Given the description of an element on the screen output the (x, y) to click on. 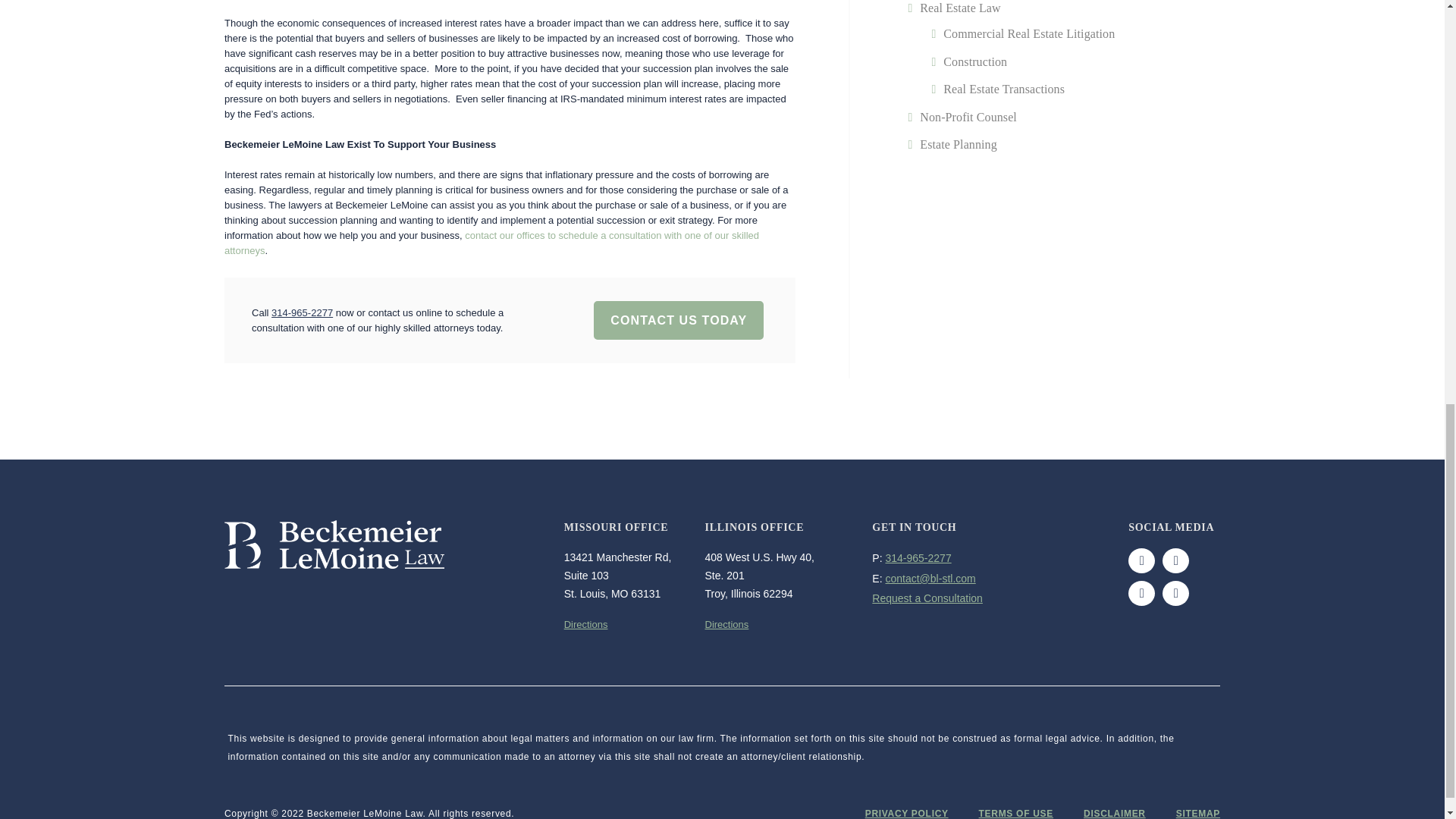
Instagram (1141, 593)
Facebook (1141, 560)
LinkedIn (1175, 593)
Twitter (1175, 560)
